Given the description of an element on the screen output the (x, y) to click on. 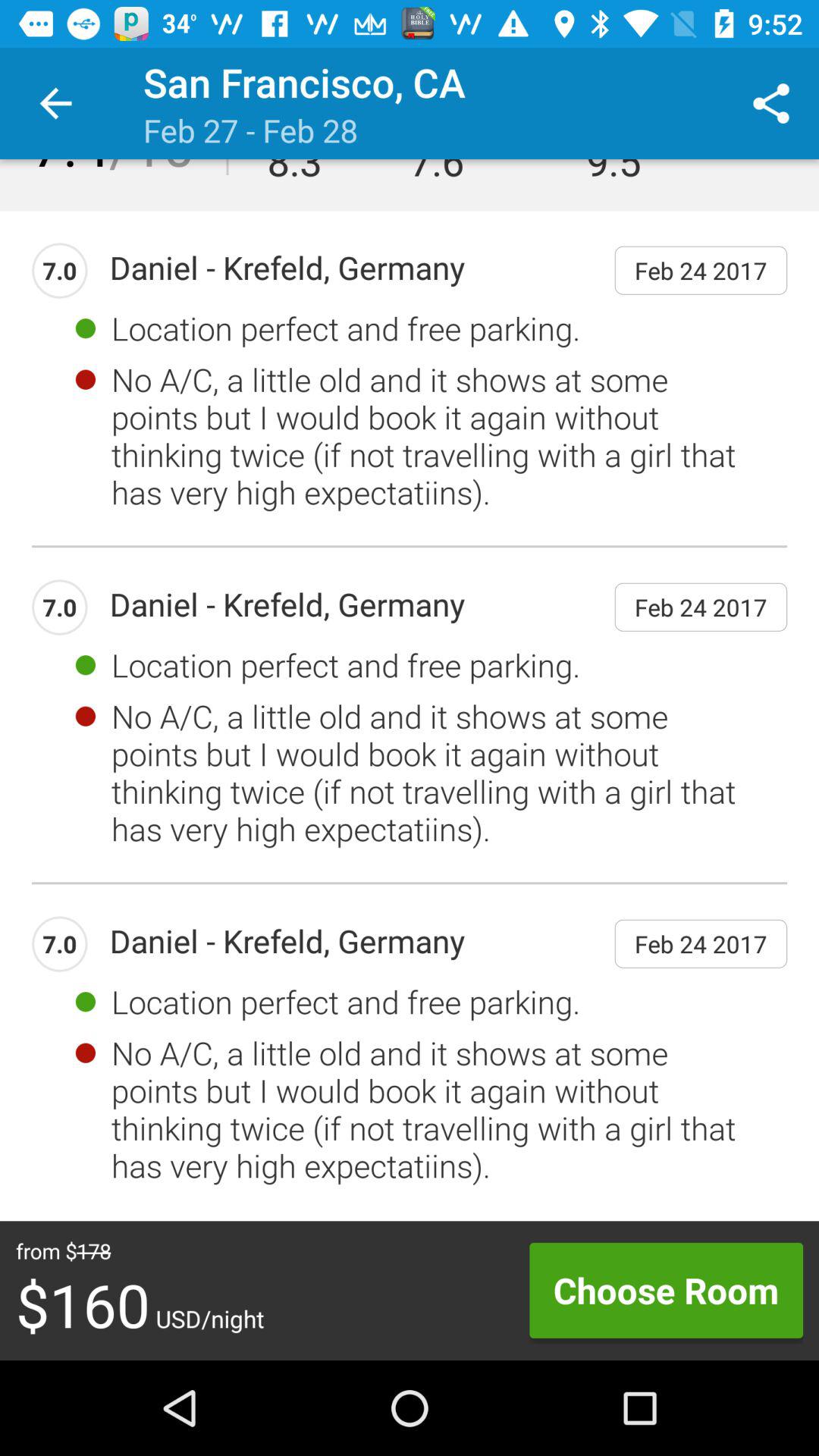
choose the item above the feb 24 2017 (771, 103)
